Given the description of an element on the screen output the (x, y) to click on. 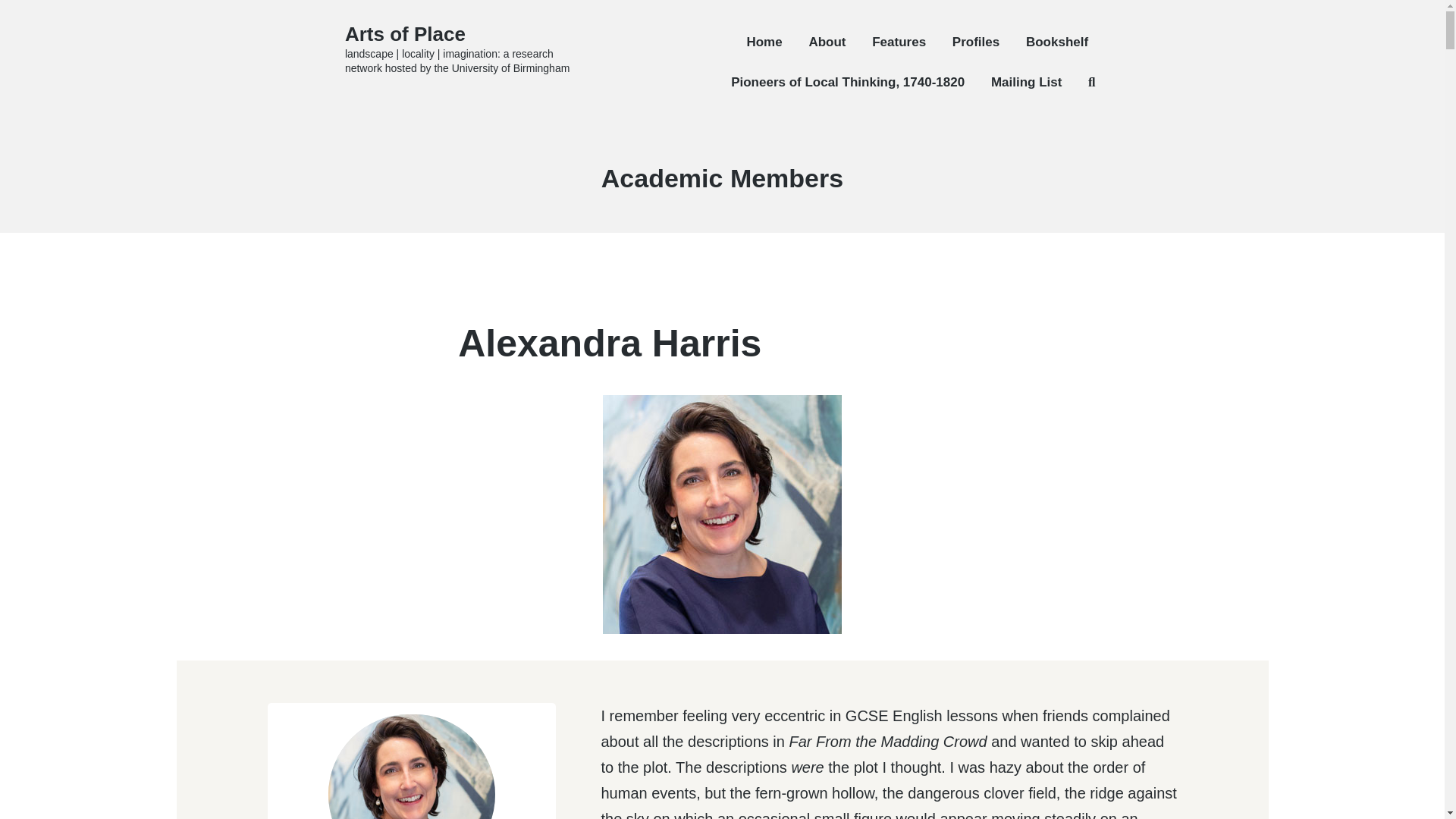
About (826, 42)
Features (899, 42)
Home (763, 42)
Pioneers of Local Thinking, 1740-1820 (846, 82)
Mailing List (1026, 82)
Bookshelf (1056, 42)
Arts of Place (405, 33)
Profiles (975, 42)
Alexandra Harris (609, 343)
